Given the description of an element on the screen output the (x, y) to click on. 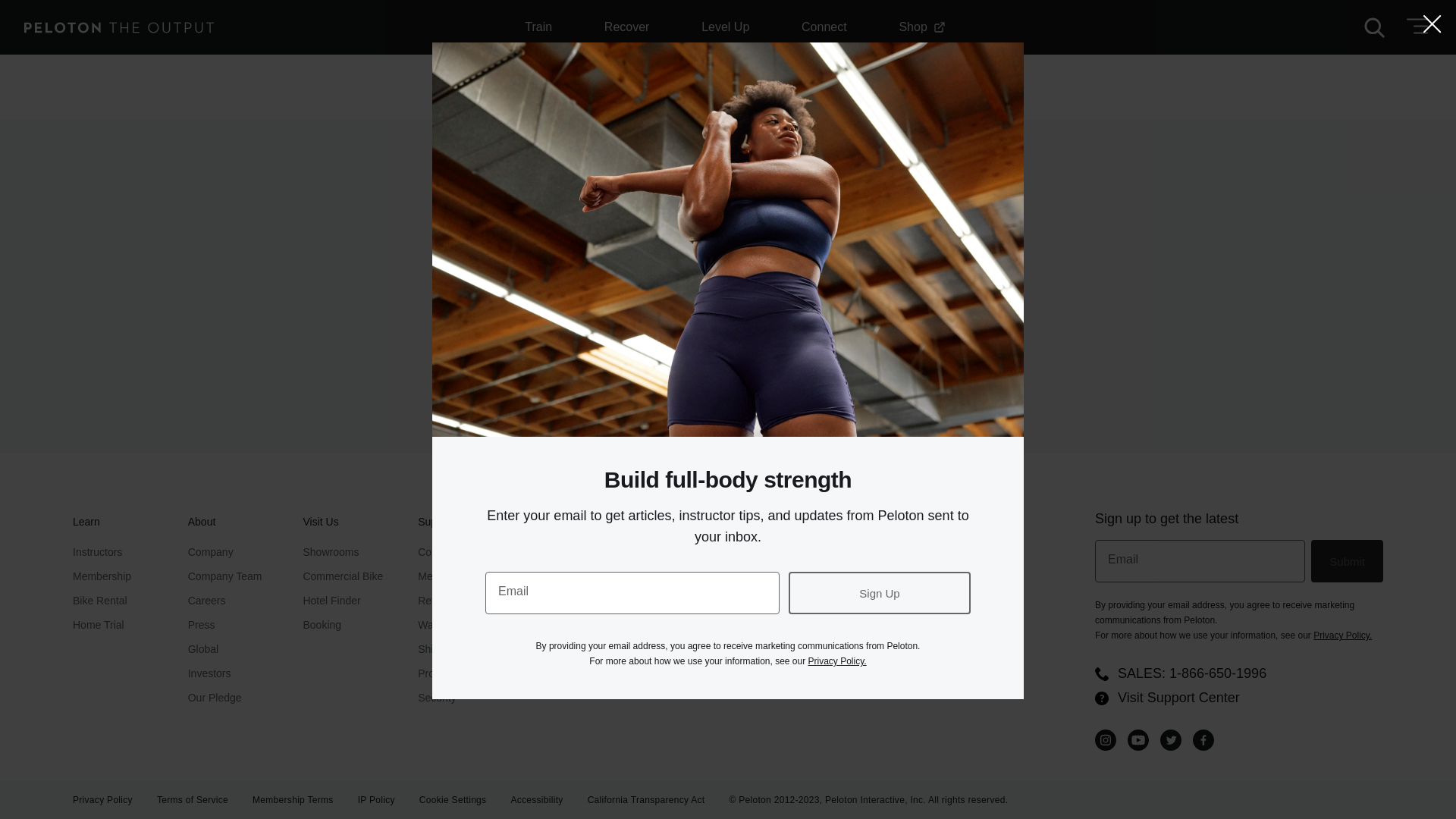
Help (1101, 698)
You Tube (1137, 740)
Instagram (1105, 740)
Phone (1101, 673)
